Given the description of an element on the screen output the (x, y) to click on. 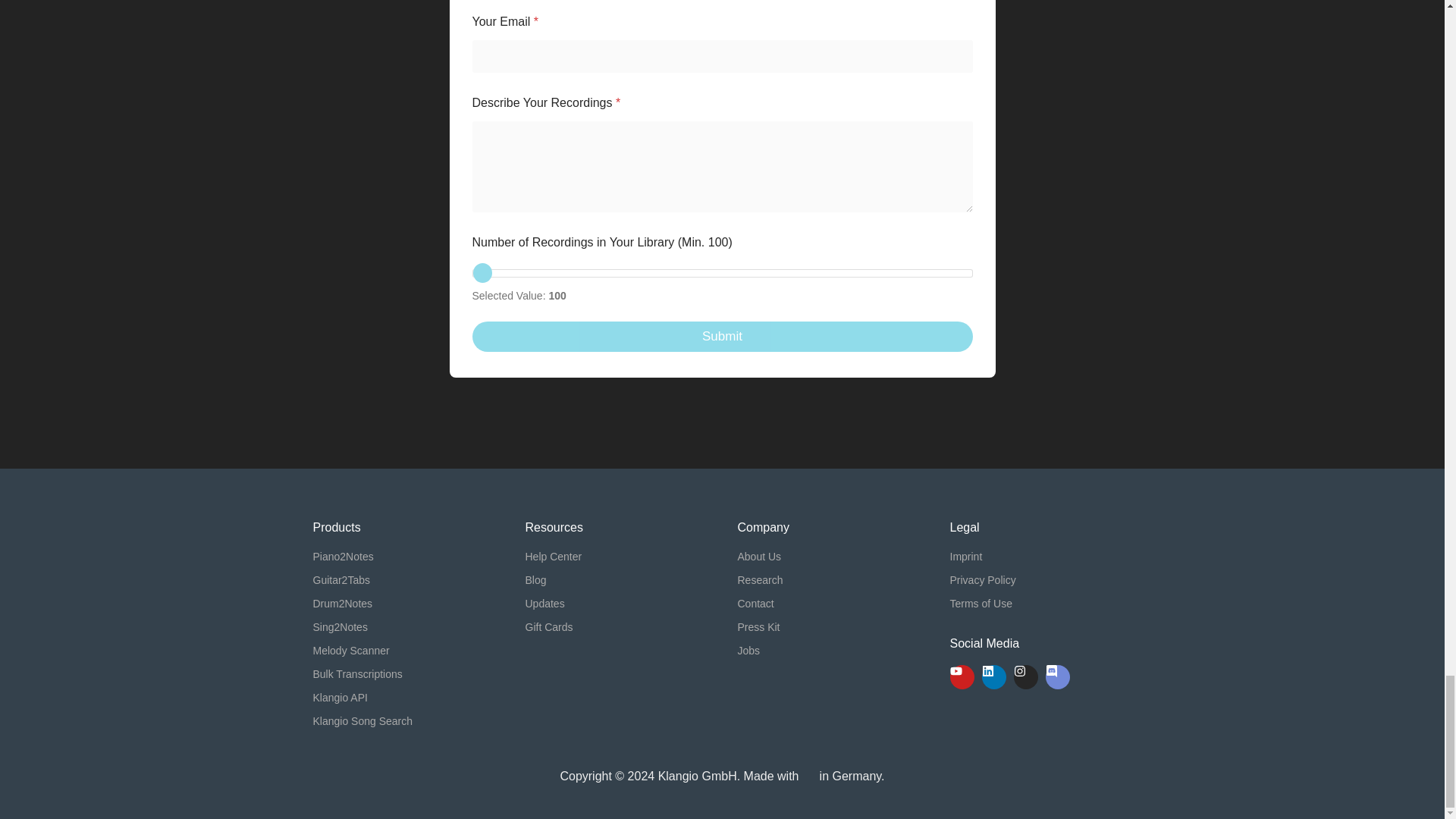
100 (721, 273)
